Given the description of an element on the screen output the (x, y) to click on. 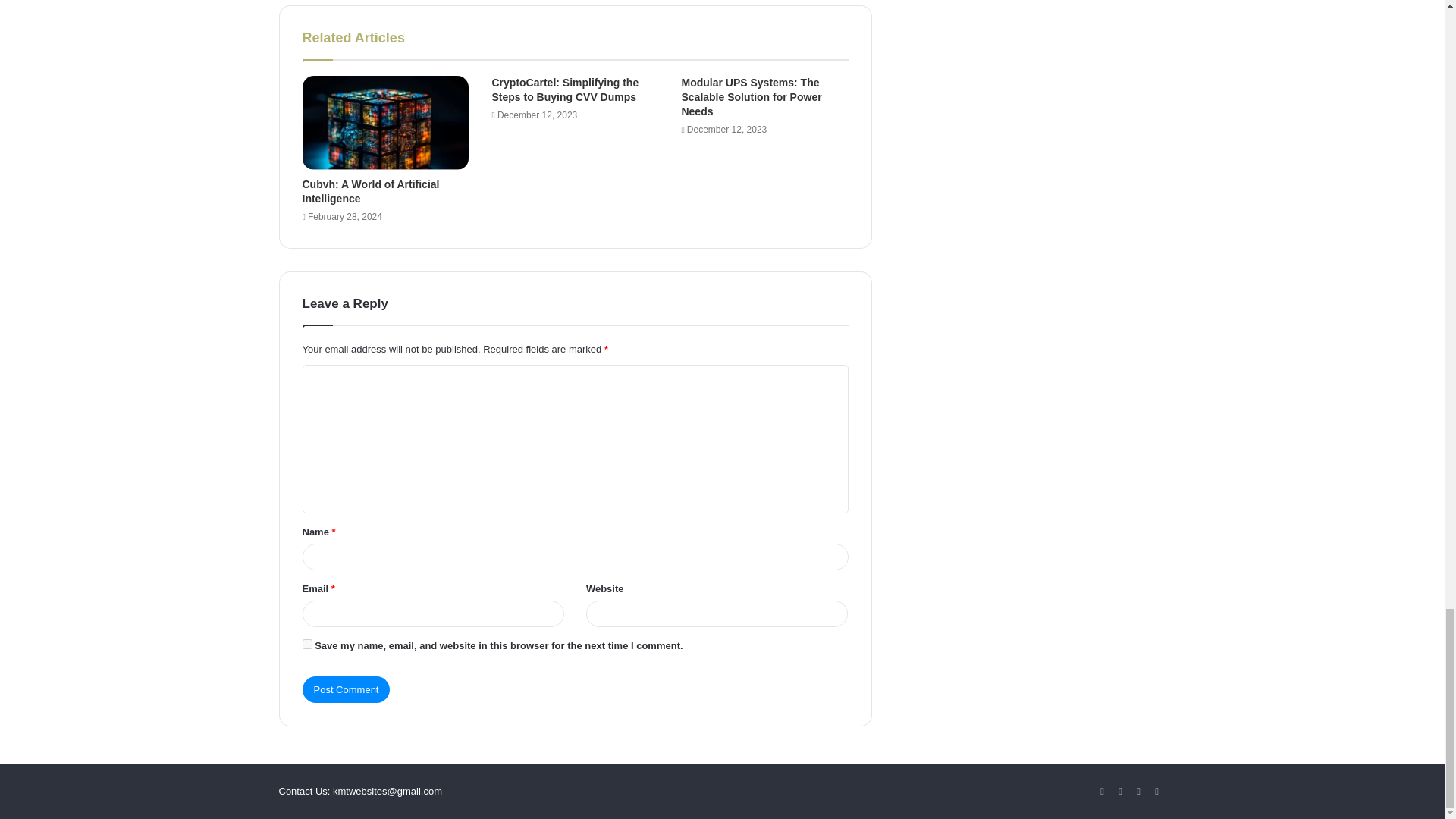
Post Comment (345, 689)
yes (306, 644)
